Given the description of an element on the screen output the (x, y) to click on. 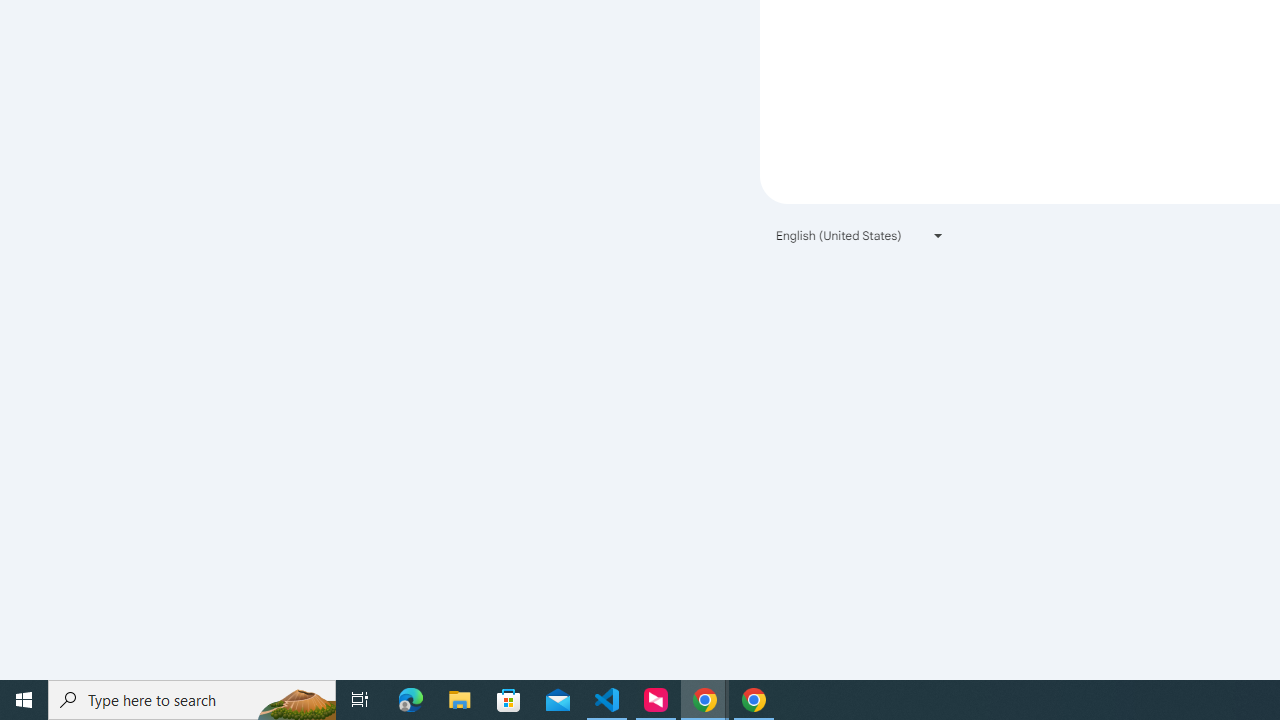
English (United States) (860, 234)
